Given the description of an element on the screen output the (x, y) to click on. 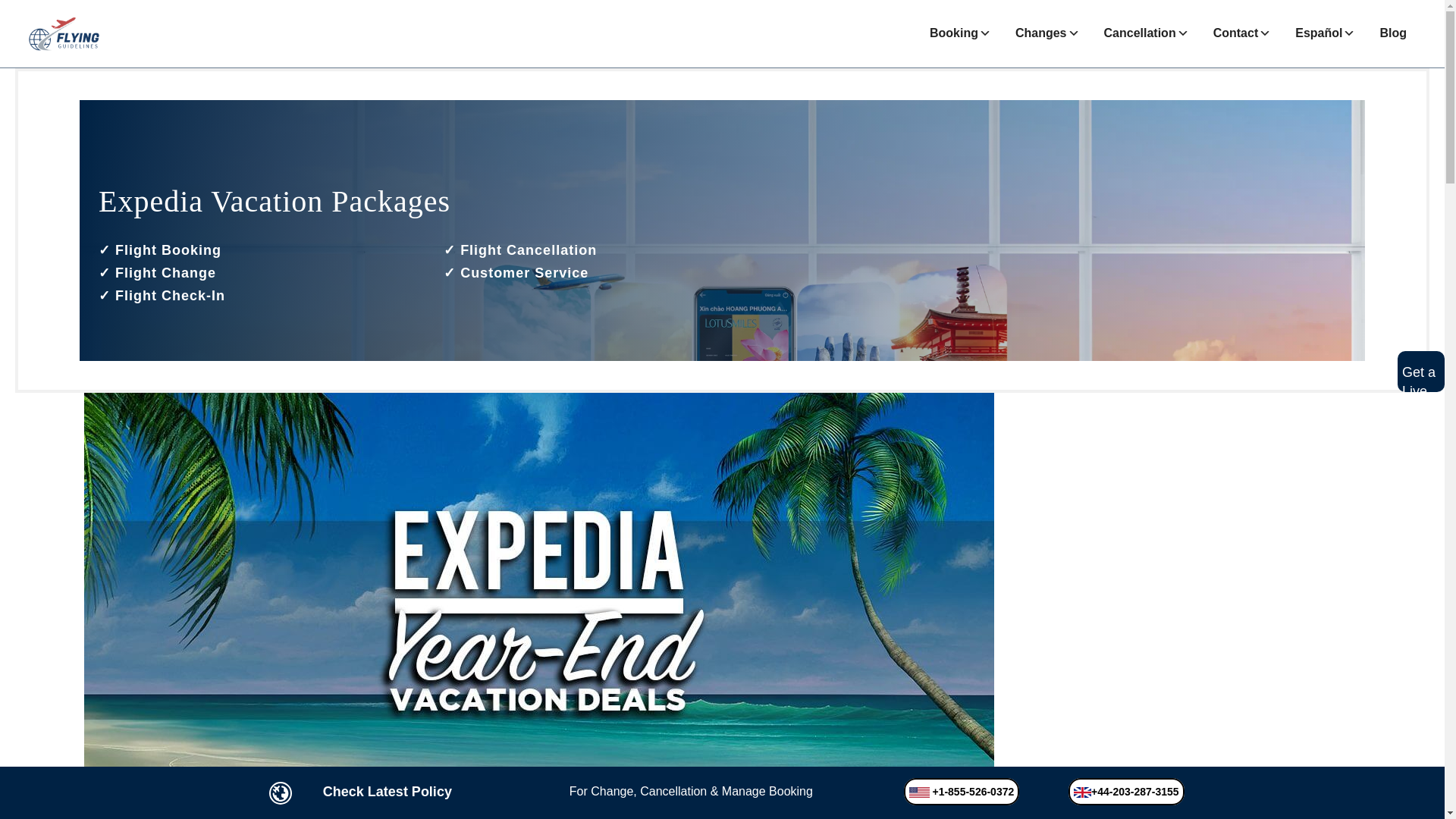
Contact (1240, 33)
Cancellation (1144, 33)
Booking (960, 33)
Changes (1046, 33)
